Given the description of an element on the screen output the (x, y) to click on. 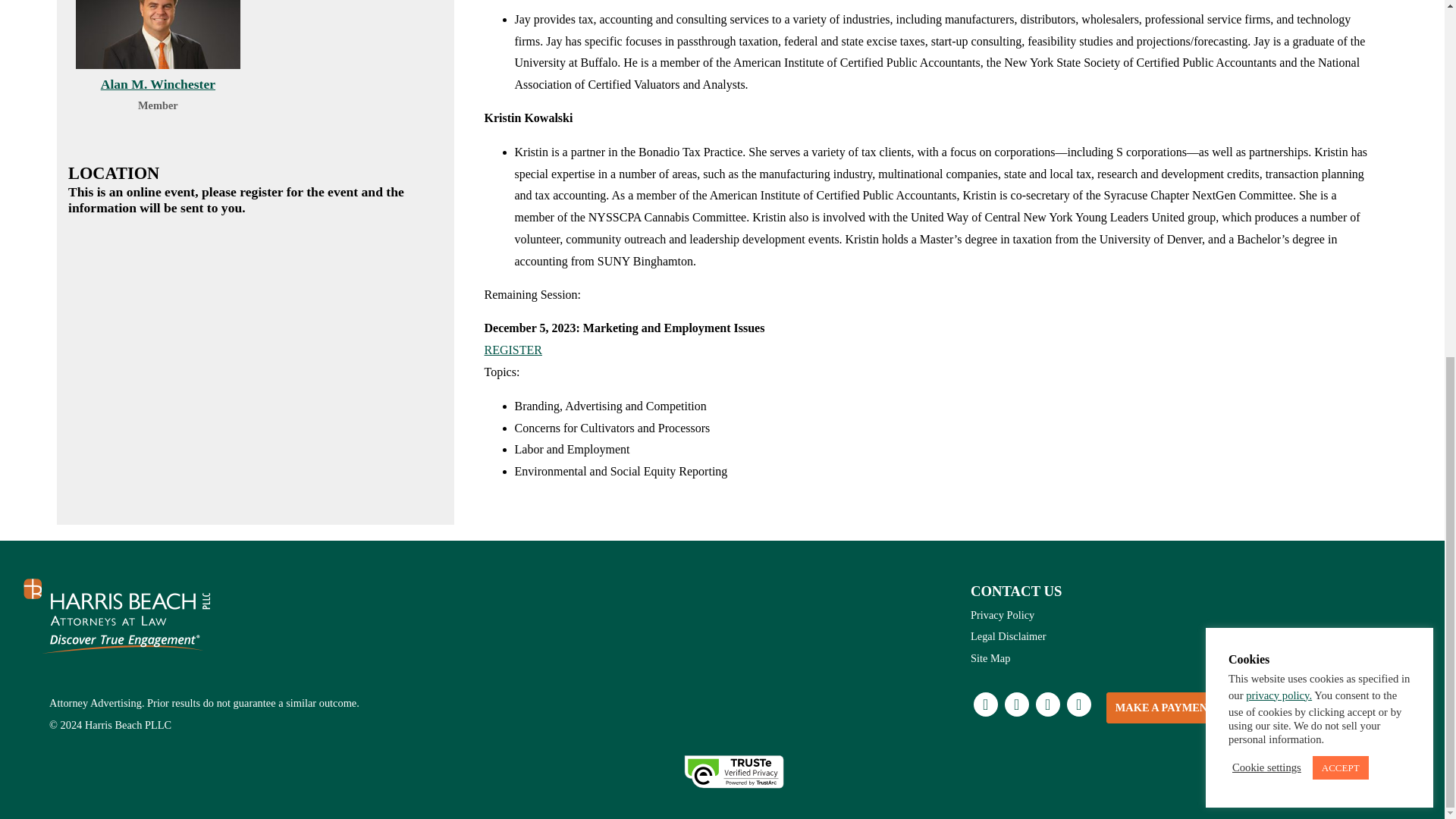
harris-beach-full-logo-white (117, 616)
